Given the description of an element on the screen output the (x, y) to click on. 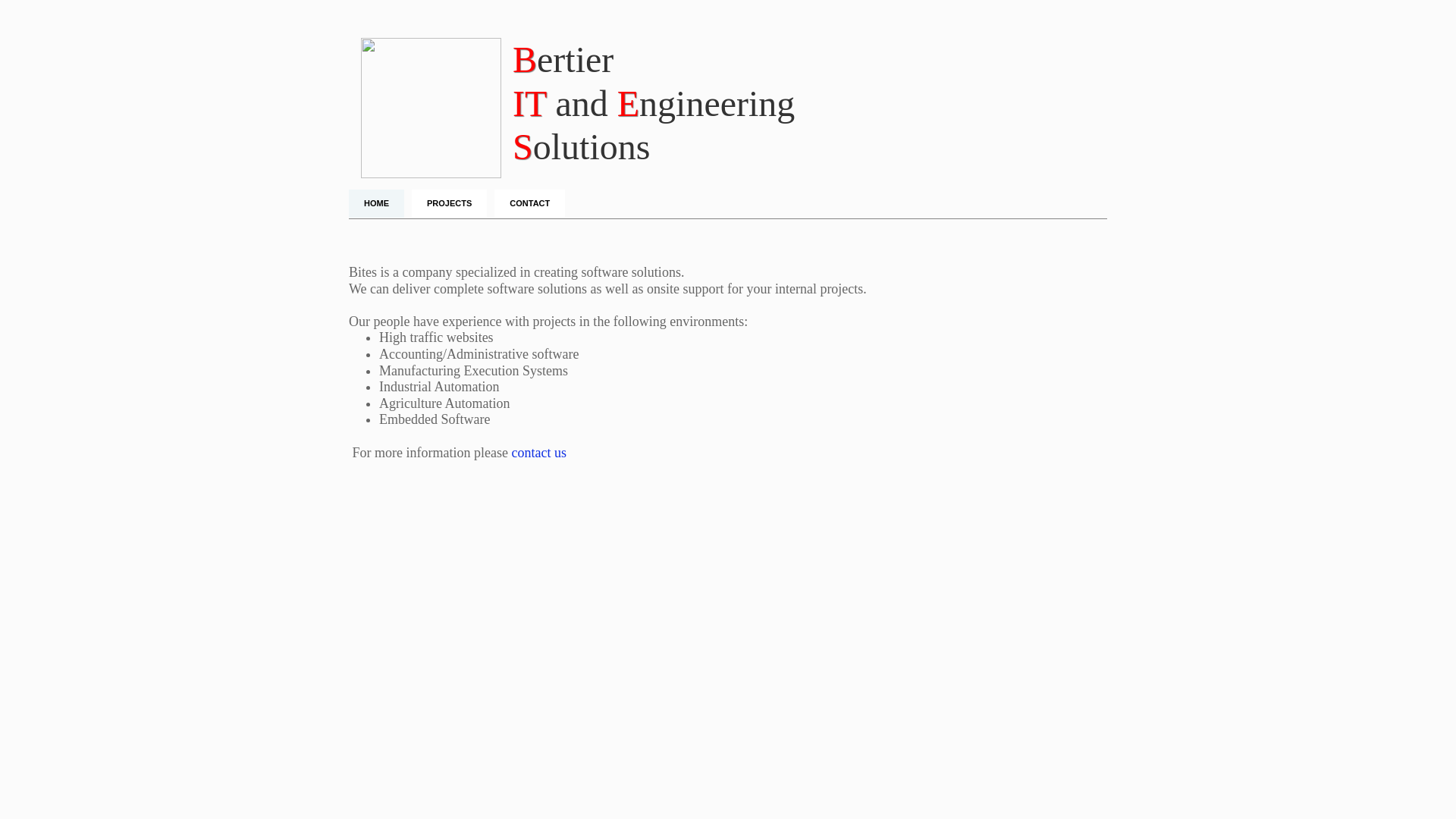
PROJECTS Element type: text (448, 203)
HOME
PROJECTS
CONTACT Element type: text (727, 203)
CONTACT Element type: text (529, 203)
contact us Element type: text (538, 452)
HOME Element type: text (376, 203)
